Given the description of an element on the screen output the (x, y) to click on. 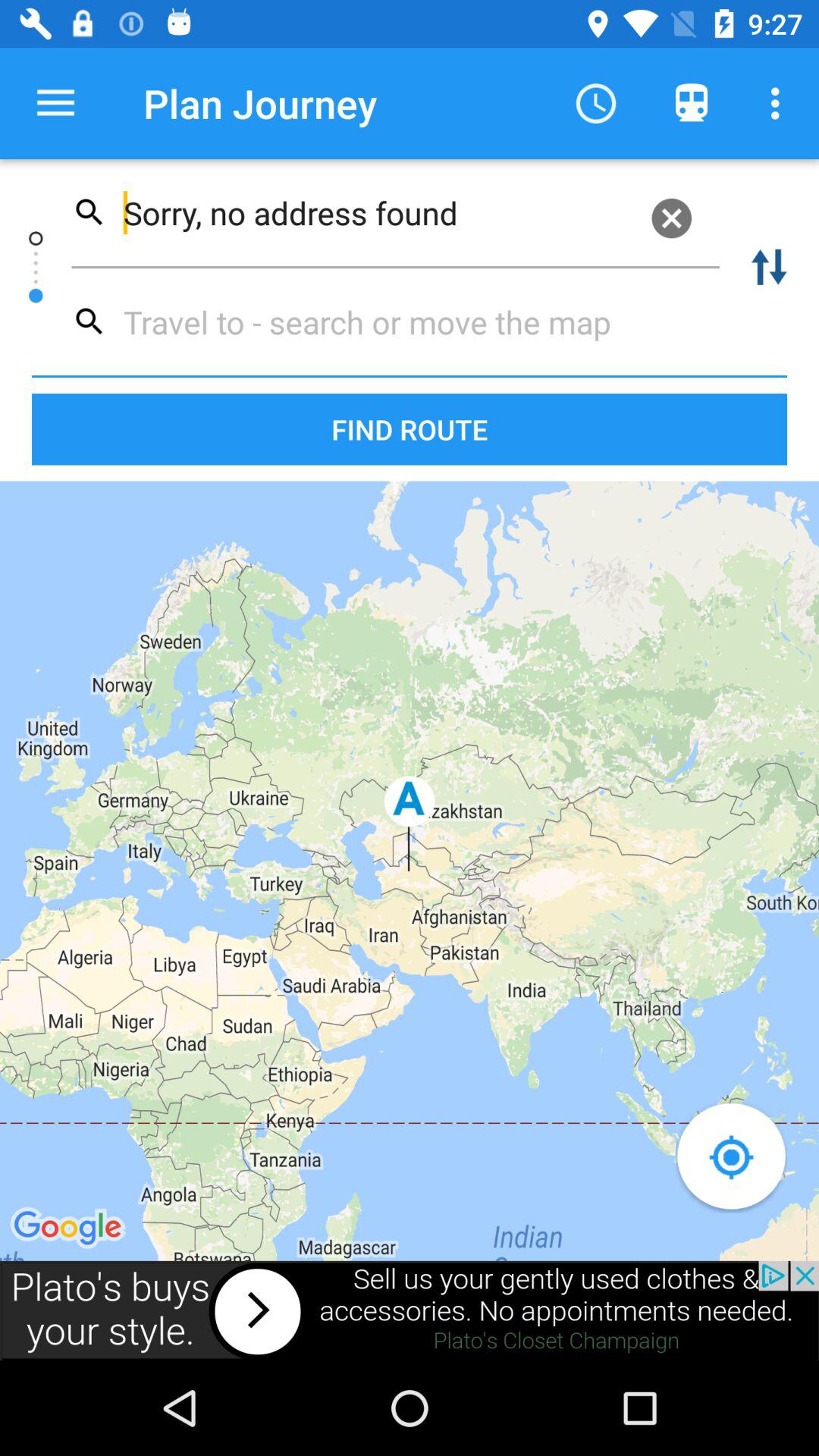
go to destination search bar (389, 321)
select google (69, 1228)
click the swap icon (769, 266)
select the clock icon which is next to plan journey (595, 103)
select the first search bar (395, 212)
